Given the description of an element on the screen output the (x, y) to click on. 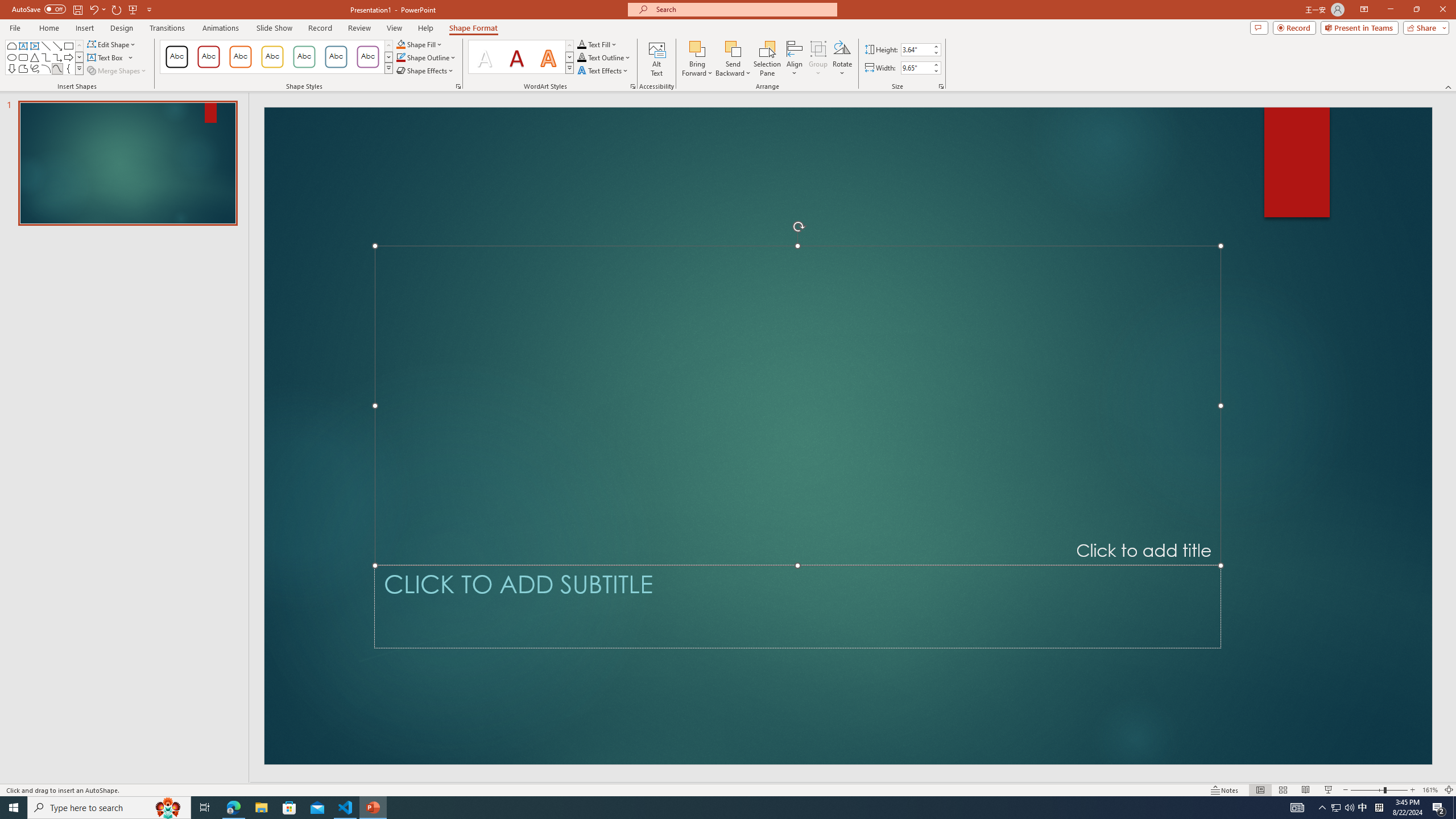
Quick Access Toolbar (82, 9)
Colored Outline - Gold, Accent 3 (272, 56)
Slide (127, 163)
Rectangle: Rounded Corners (23, 57)
Animations (220, 28)
Edit Shape (112, 44)
Insert (83, 28)
Draw Horizontal Text Box (105, 56)
Colored Outline - Blue-Gray, Accent 5 (336, 56)
Help (425, 28)
Text Outline RGB(0, 0, 0) (581, 56)
